Given the description of an element on the screen output the (x, y) to click on. 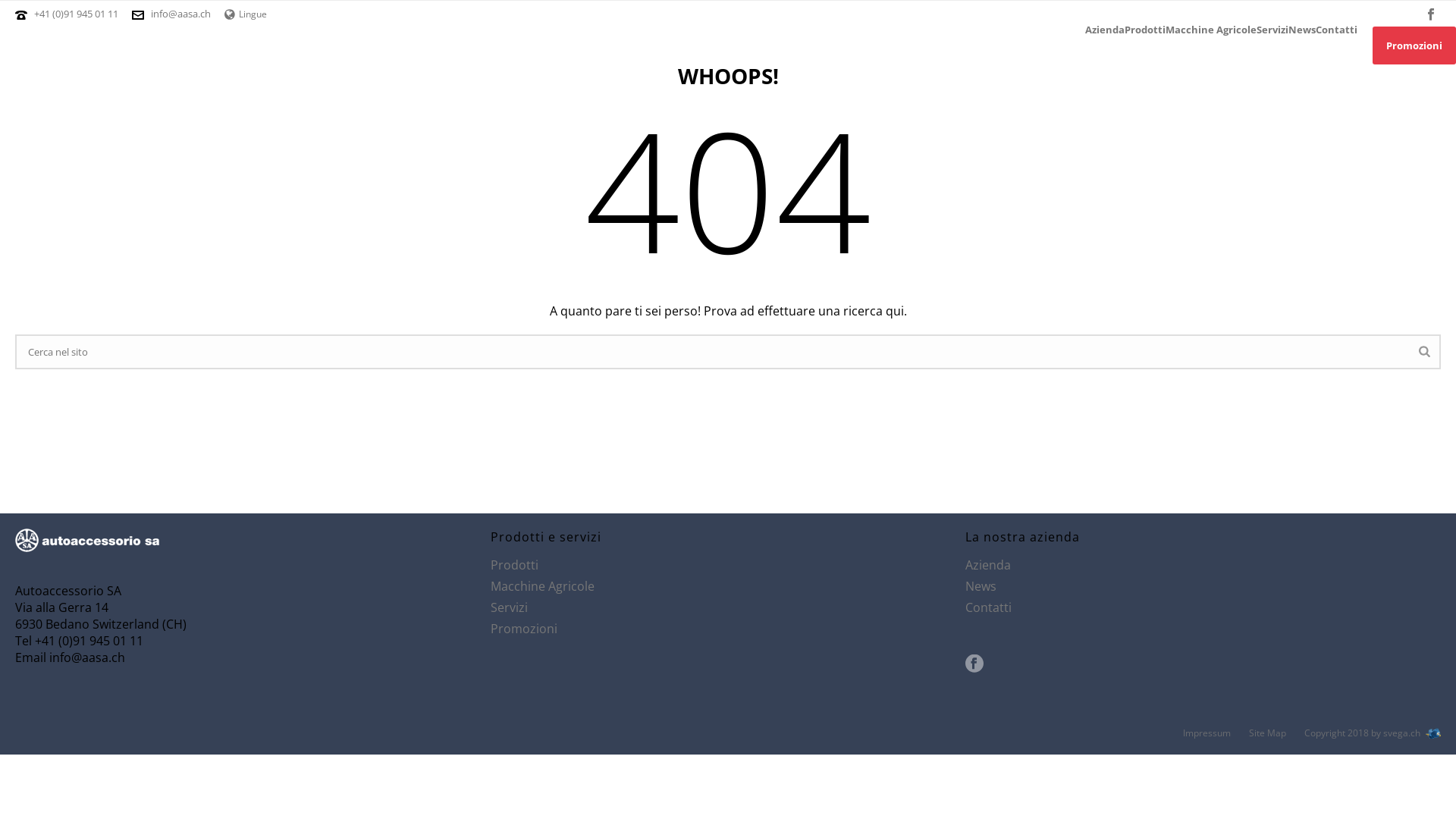
Prodotti Element type: text (1144, 29)
Contatti Element type: text (988, 607)
Seguici su facebook Element type: hover (974, 664)
Servizi Element type: text (508, 607)
News Element type: text (1301, 29)
Lingue Element type: text (245, 13)
Servizi Element type: text (1272, 29)
Prodotti Element type: text (514, 564)
Site Map Element type: text (1267, 733)
Macchine Agricole Element type: text (542, 586)
Azienda Element type: text (1104, 29)
Promozioni Element type: text (523, 628)
Contatti Element type: text (1336, 29)
Macchine Agricole Element type: text (1210, 29)
Copyright 2018 by svega.ch Element type: text (1375, 733)
info@aasa.ch Element type: text (180, 13)
Impressum Element type: text (1206, 733)
News Element type: text (980, 586)
Azienda Element type: text (987, 564)
+41 (0)91 945 01 11 Element type: text (77, 13)
